Given the description of an element on the screen output the (x, y) to click on. 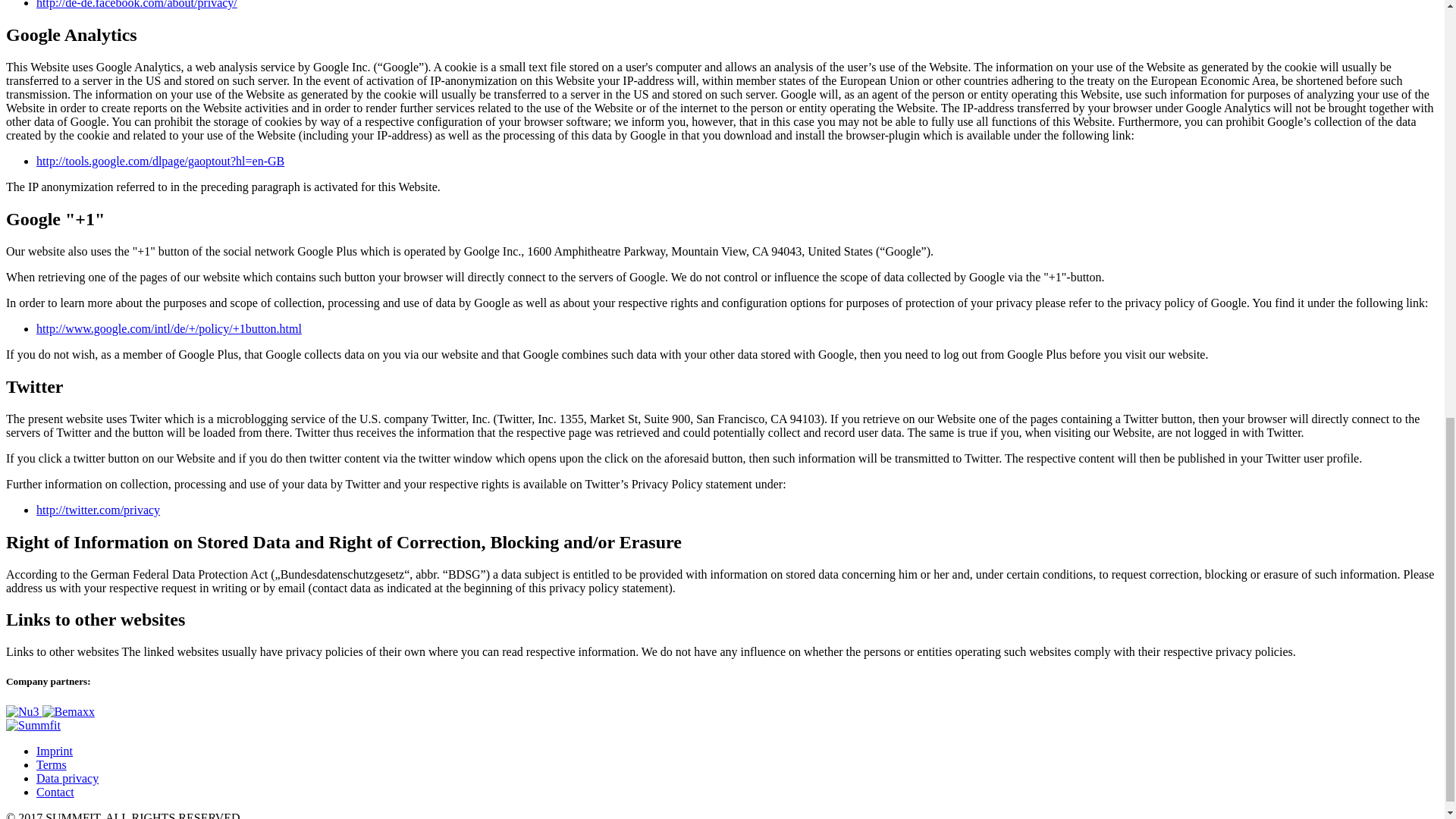
Terms (51, 764)
Imprint (54, 750)
Contact (55, 791)
Data privacy (67, 778)
